Given the description of an element on the screen output the (x, y) to click on. 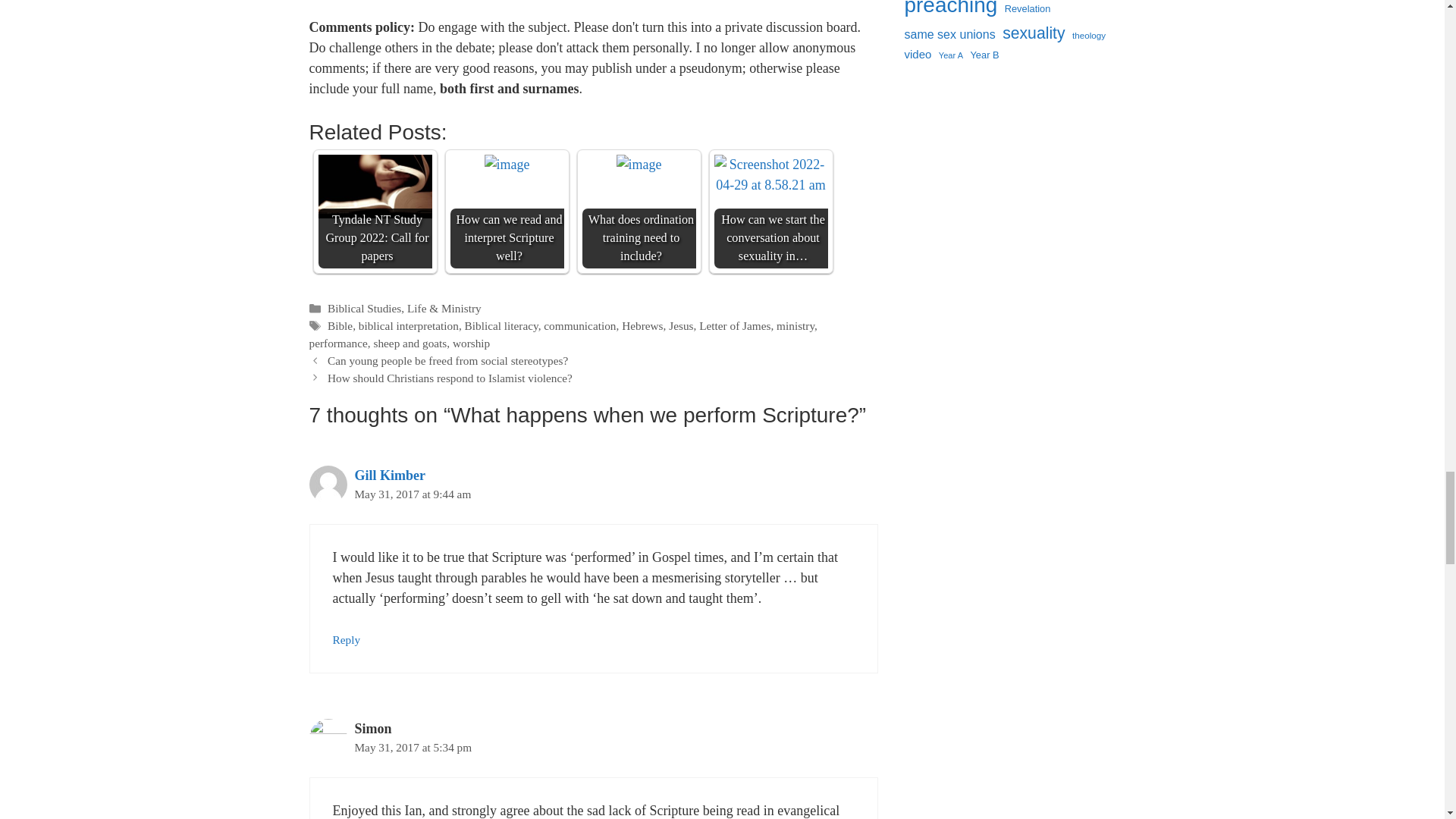
What does ordination training need to include? (638, 164)
How can we read and interpret Scripture well? (506, 164)
Tyndale NT Study Group 2022: Call for papers (375, 186)
